Given the description of an element on the screen output the (x, y) to click on. 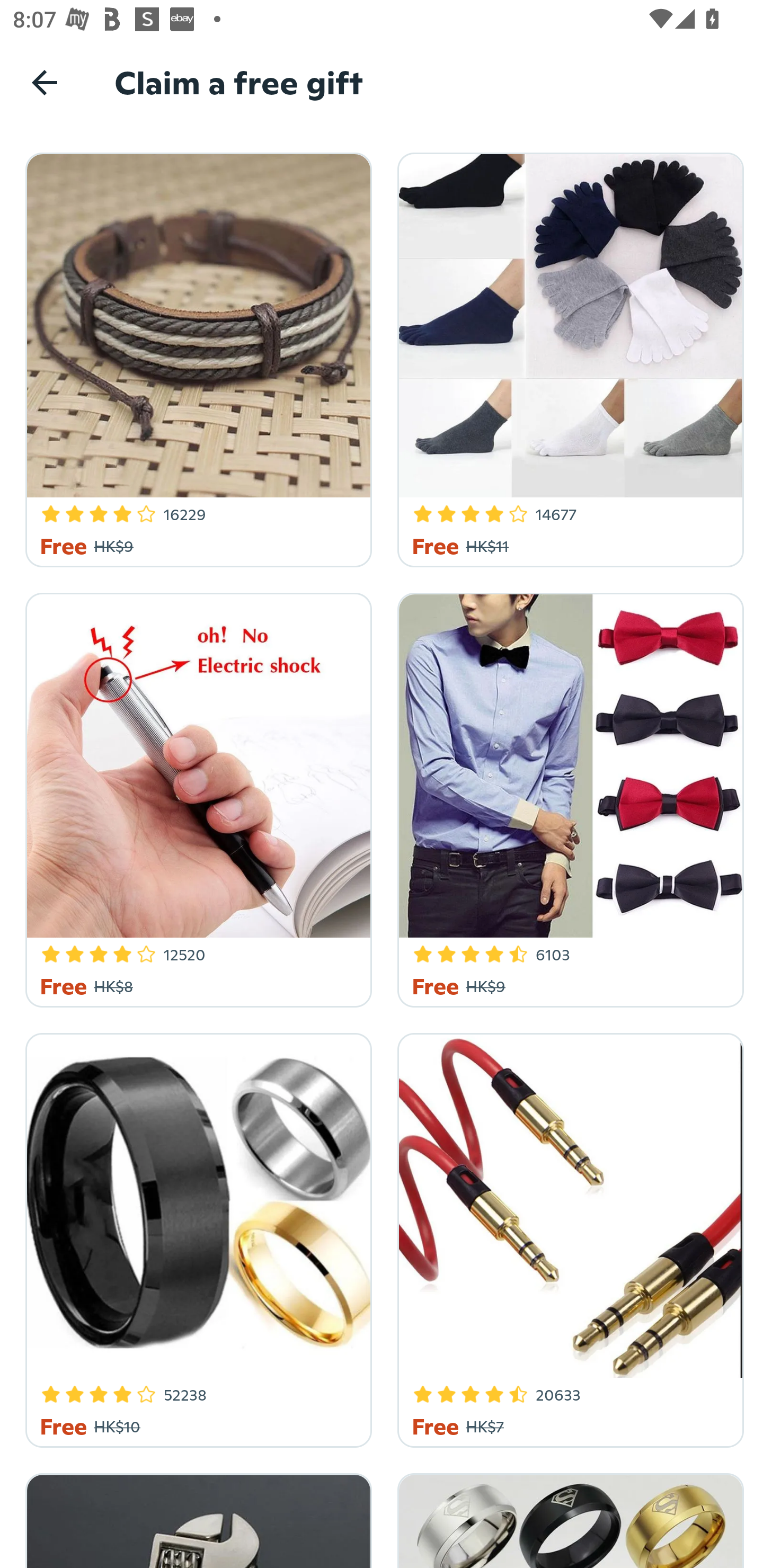
Navigate up (44, 82)
3.8 Star Rating 16229 Free HK$9 (195, 356)
4.2 Star Rating 14677 Free HK$11 (566, 356)
3.9 Star Rating 12520 Free HK$8 (195, 797)
4.4 Star Rating 6103 Free HK$9 (566, 797)
4.2 Star Rating 52238 Free HK$10 (195, 1237)
4.3 Star Rating 20633 Free HK$7 (566, 1237)
